Given the description of an element on the screen output the (x, y) to click on. 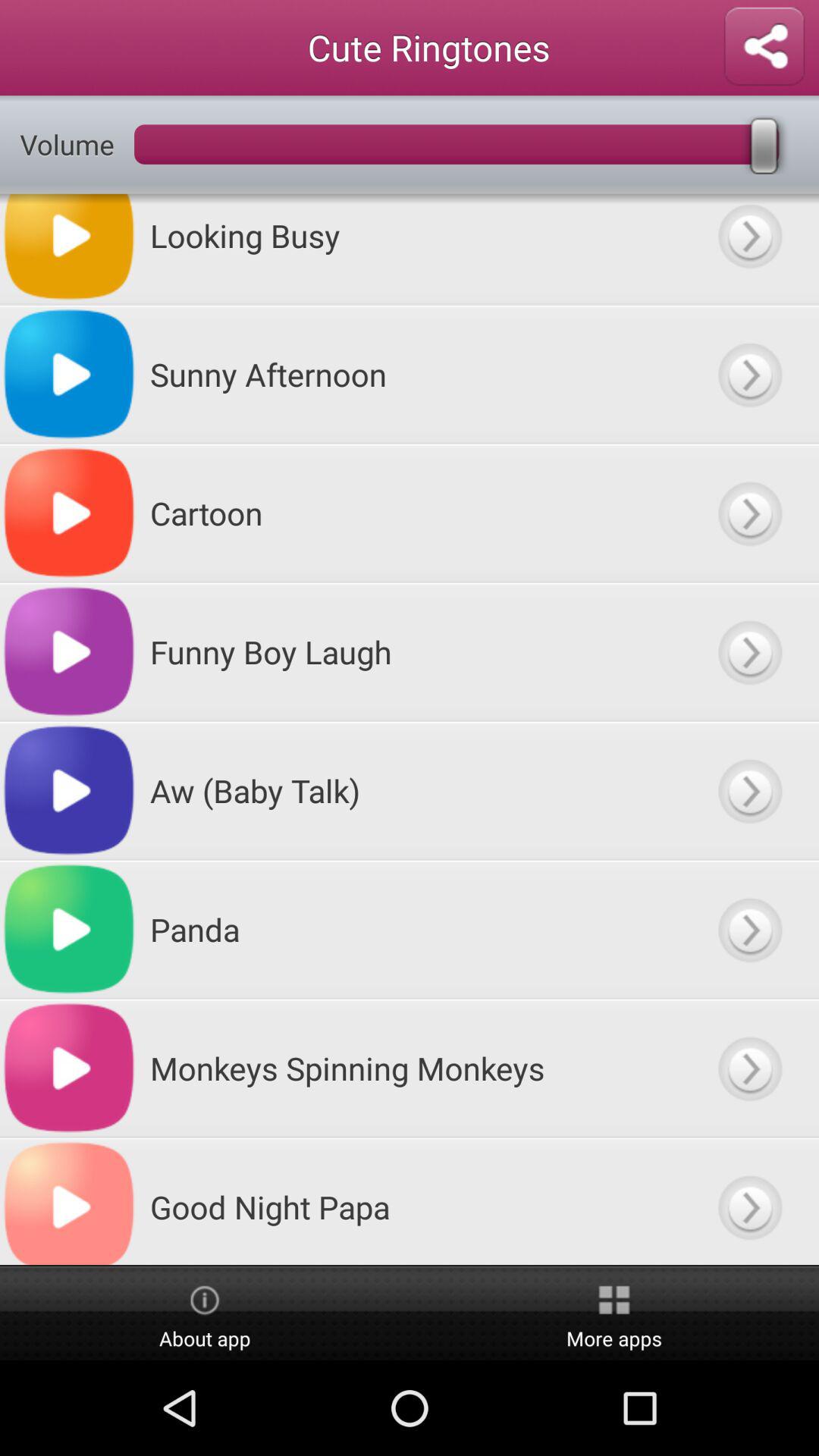
go to next (749, 513)
